Given the description of an element on the screen output the (x, y) to click on. 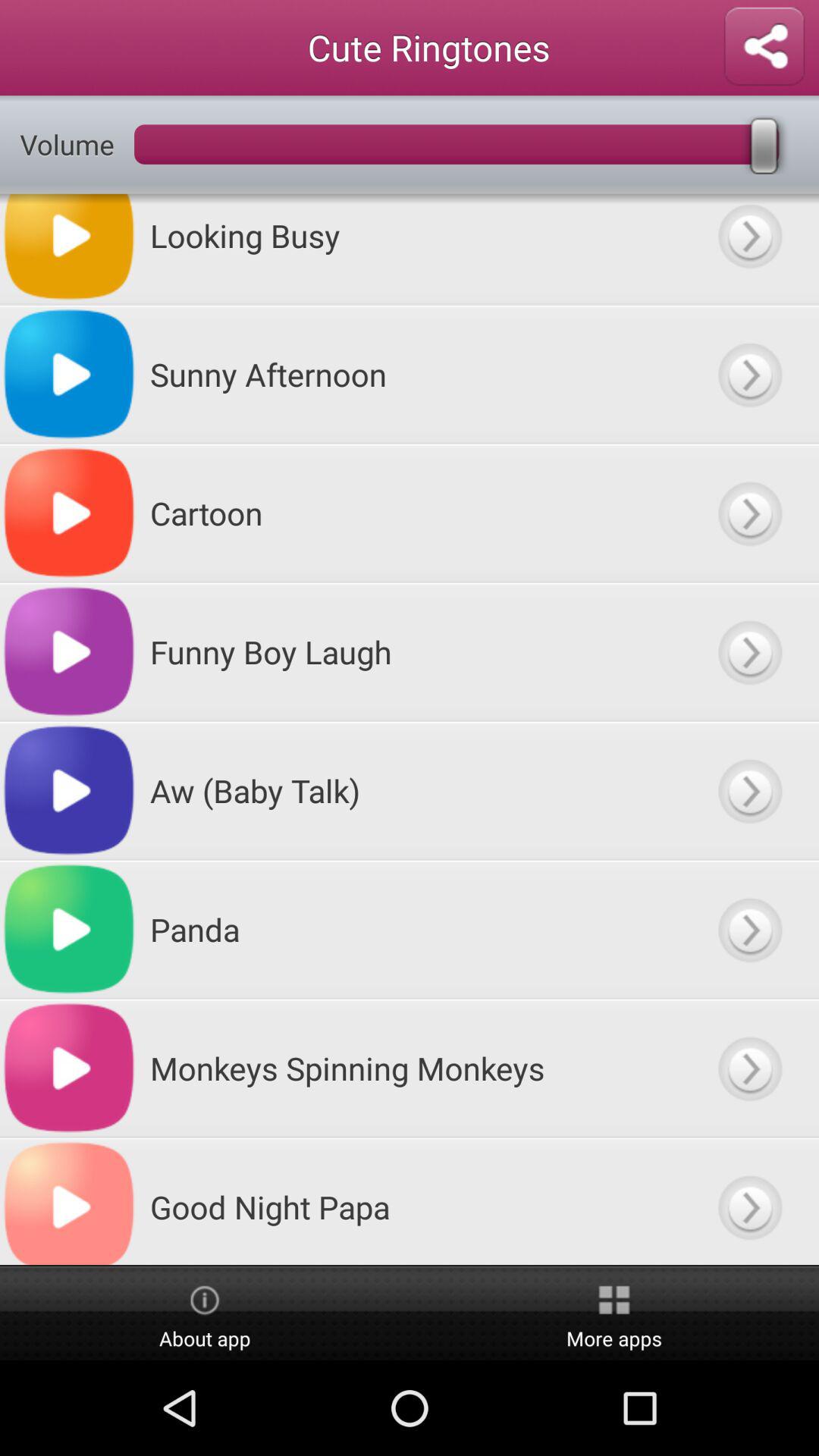
go to next (749, 513)
